Given the description of an element on the screen output the (x, y) to click on. 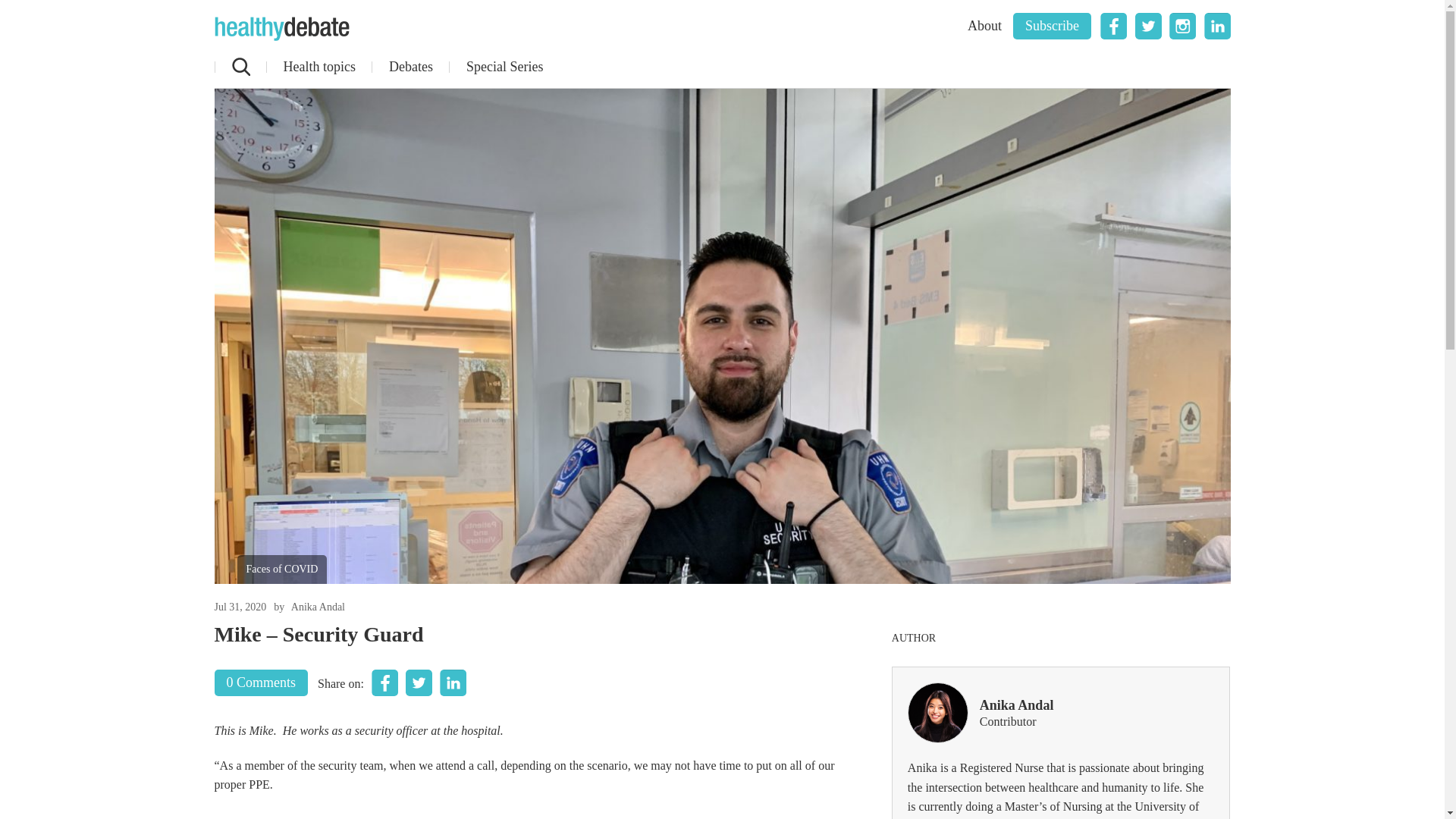
Healthy Debate (281, 28)
Anika Andal (318, 606)
Special Series (504, 67)
Health topics (318, 67)
Healthy Debate (281, 28)
0 Comments (260, 682)
Subscribe (1051, 26)
Debates (410, 67)
About (984, 25)
